Given the description of an element on the screen output the (x, y) to click on. 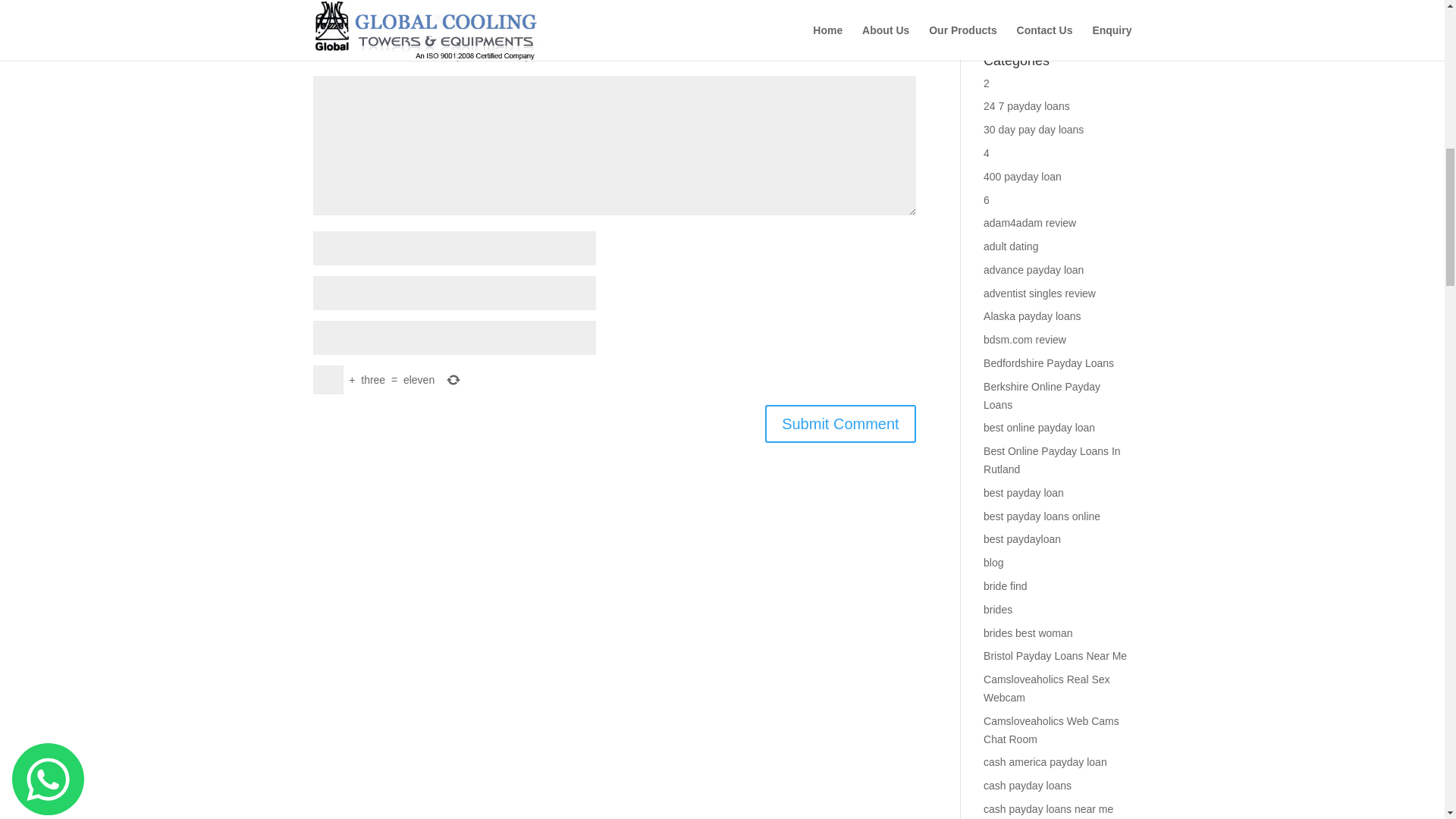
April 2019 (1007, 21)
September 2019 (1023, 2)
Submit Comment (840, 423)
Submit Comment (840, 423)
